Given the description of an element on the screen output the (x, y) to click on. 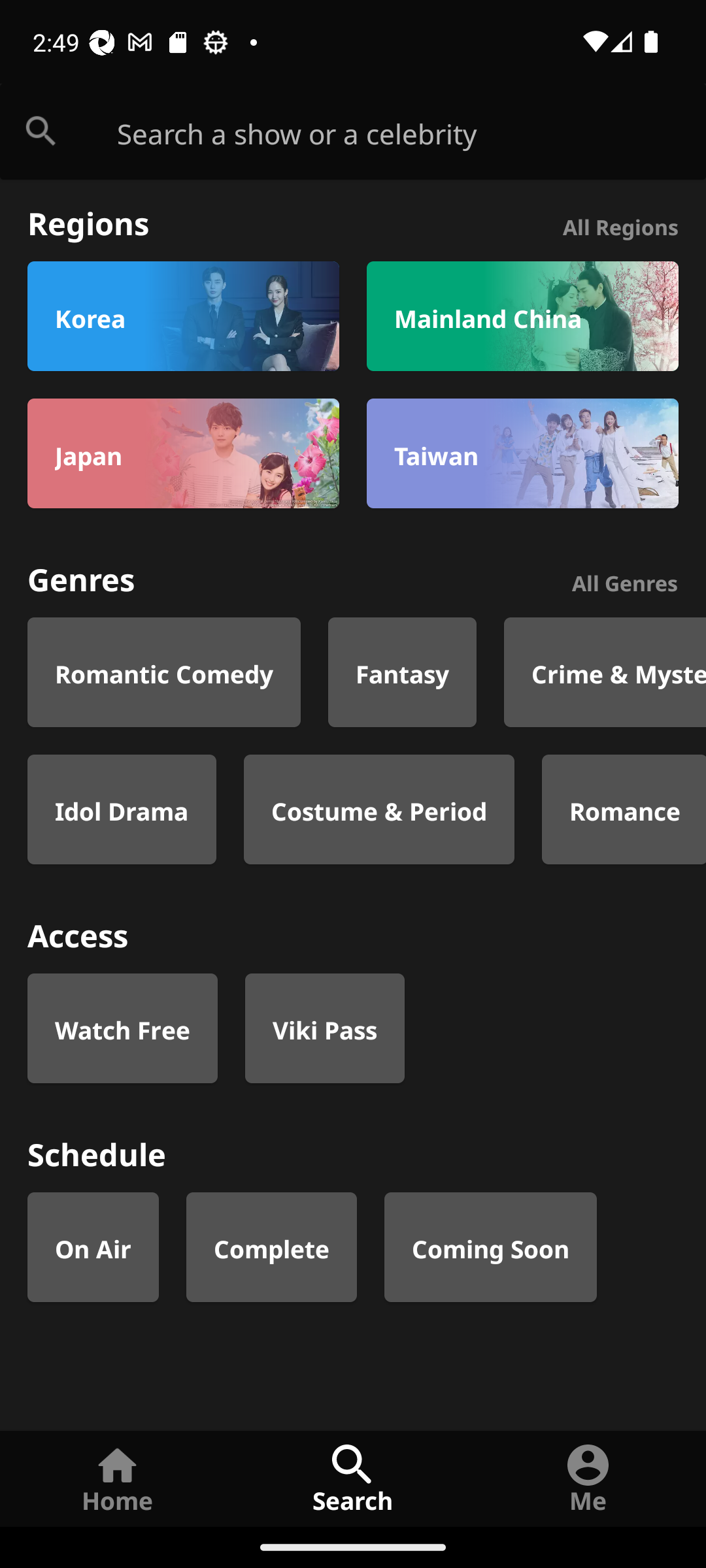
Search a show or a celebrity (411, 131)
All Regions (620, 224)
filter_region_kr Korea (183, 316)
filter_region_cn Mainland China (522, 316)
filter_region_jp Japan (183, 453)
filter_region_tw Taiwan (522, 453)
All Genres (624, 580)
filter_genre_18g Romantic Comedy (163, 672)
filter_genre_19g Fantasy (402, 672)
filter_genre_7g Crime & Mystery (605, 672)
filter_genre_1038g Idol Drama (121, 808)
filter_genre_25g Costume & Period (378, 808)
filter_genre_1068g Romance (624, 808)
filter_access_watch_free Watch Free (122, 1028)
filter_access_vikipass Viki Pass (324, 1028)
filter_schedule_on_air On Air (92, 1246)
filter_schedule_complete Complete (271, 1246)
filter_schedule_coming_soon Coming Soon (490, 1246)
Home (117, 1478)
Me (588, 1478)
